Given the description of an element on the screen output the (x, y) to click on. 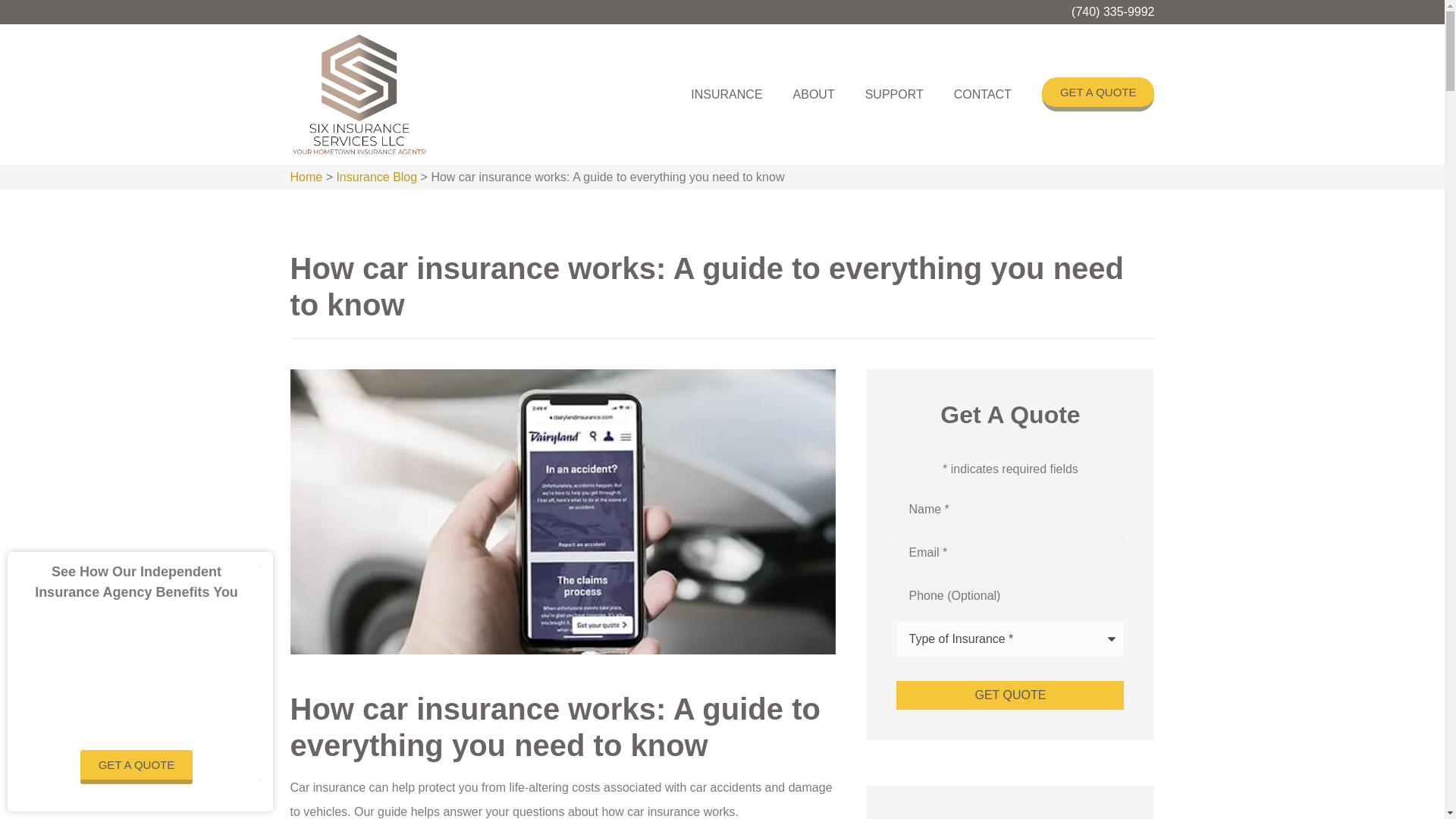
ABOUT (813, 94)
Get Quote (1010, 695)
INSURANCE (726, 94)
SUPPORT (894, 94)
CONTACT (982, 94)
